Given the description of an element on the screen output the (x, y) to click on. 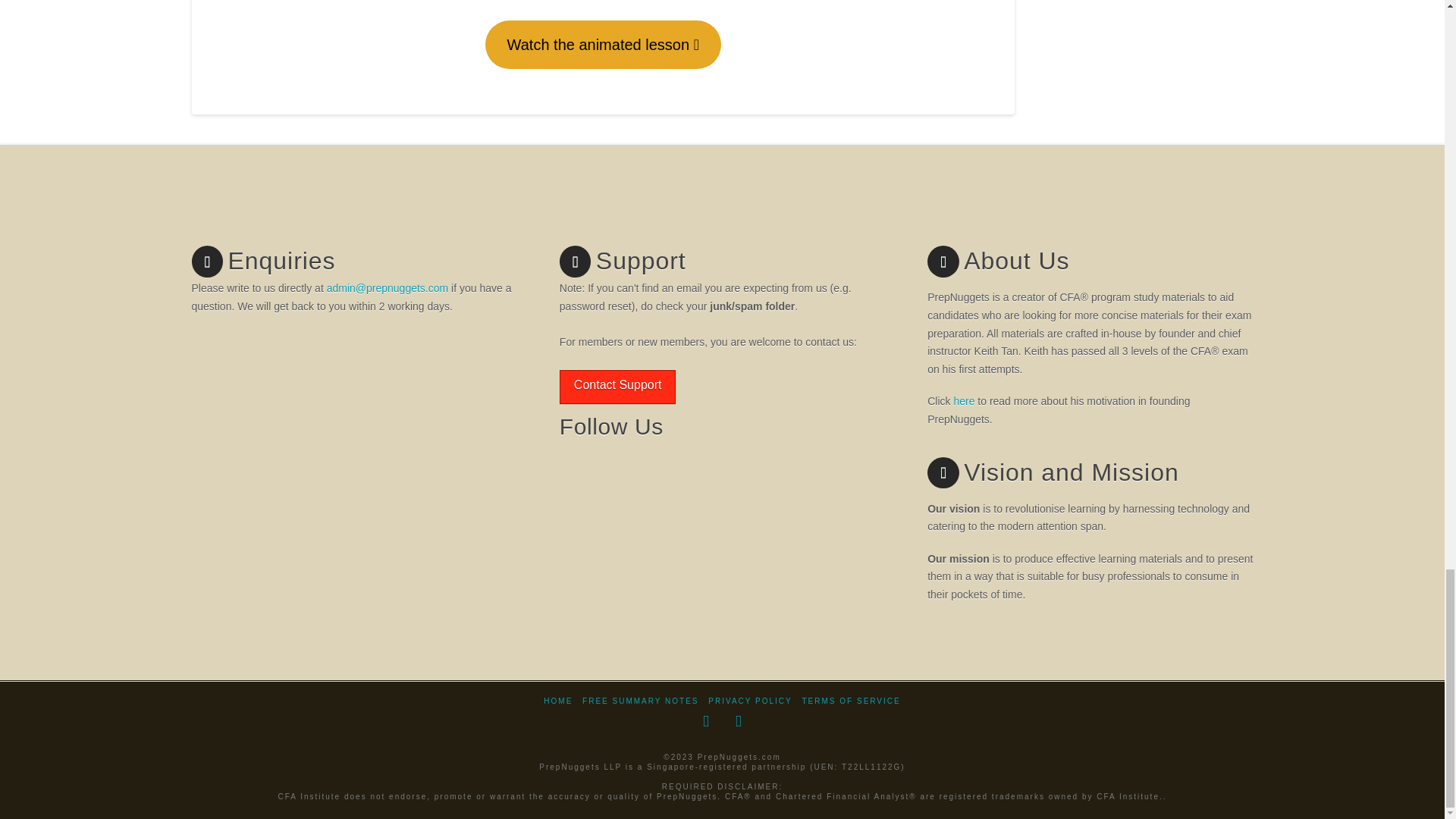
Find us on YouTube (636, 473)
Follow us on Facebook (583, 473)
Contact Support (618, 387)
